Given the description of an element on the screen output the (x, y) to click on. 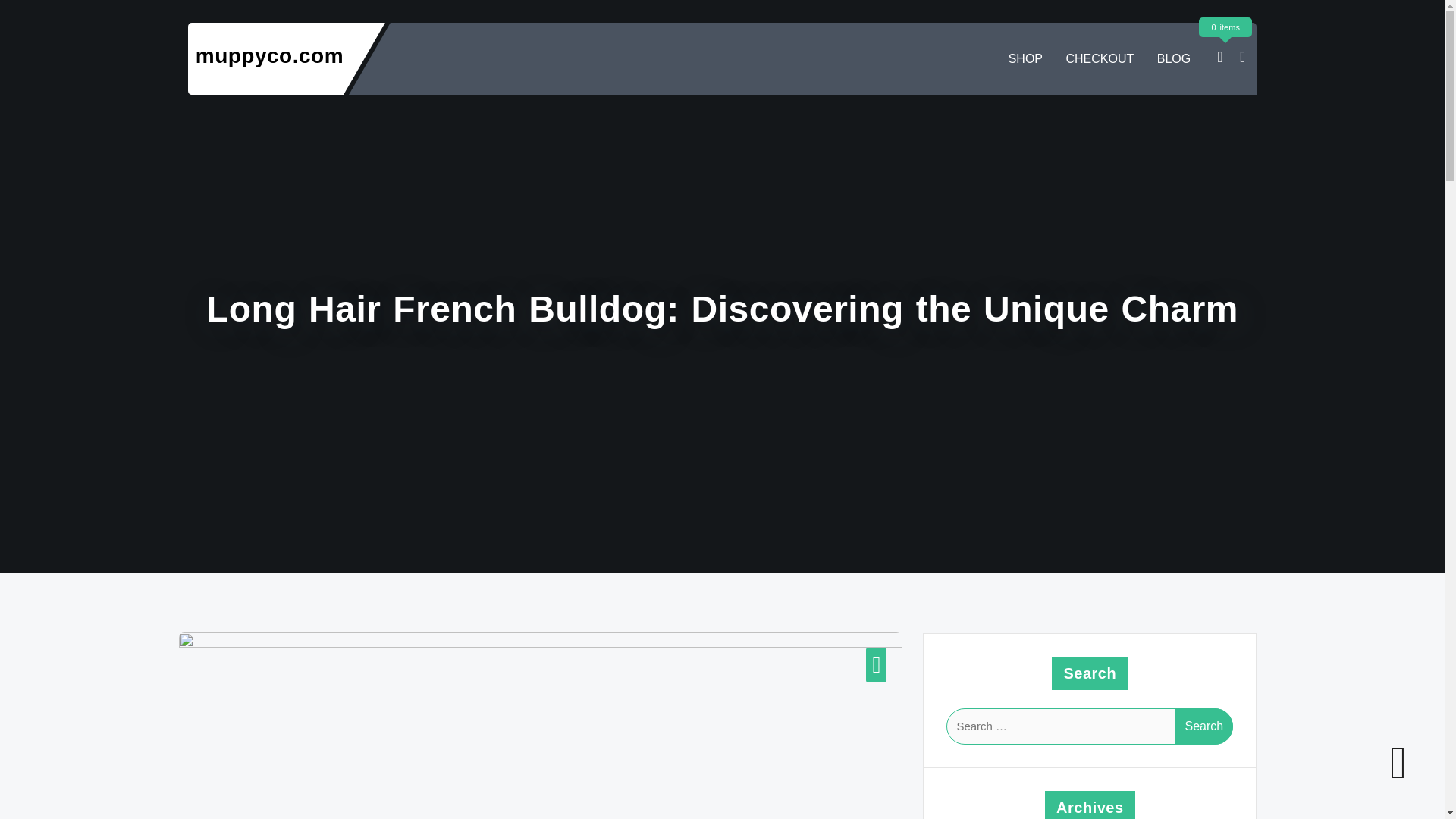
BLOG (1173, 58)
Search (1203, 726)
muppyco.com (269, 55)
CHECKOUT (1099, 58)
Search (1203, 726)
SHOP (1024, 58)
Search (1203, 726)
